Given the description of an element on the screen output the (x, y) to click on. 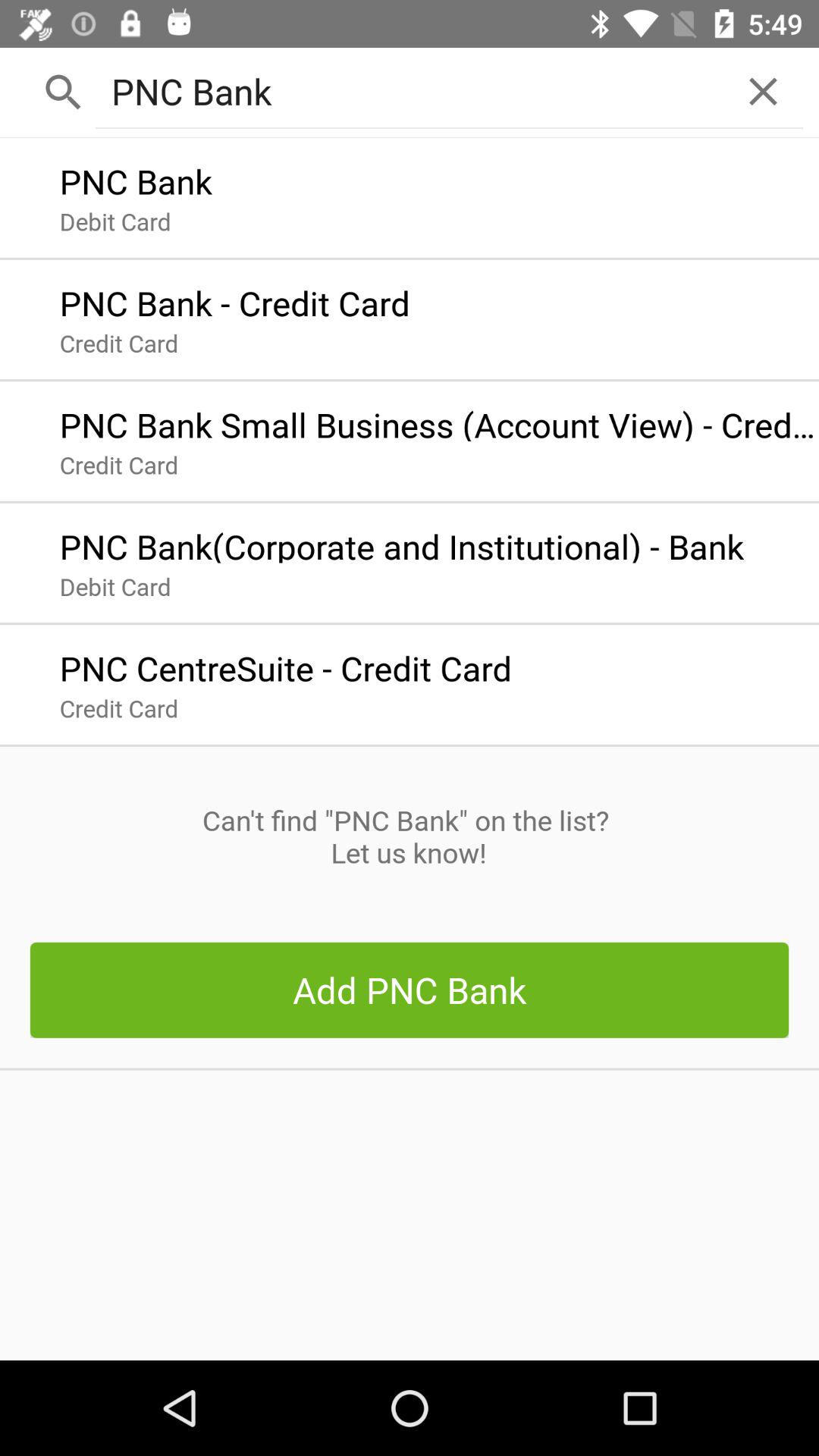
turn on the can t find icon (408, 836)
